Given the description of an element on the screen output the (x, y) to click on. 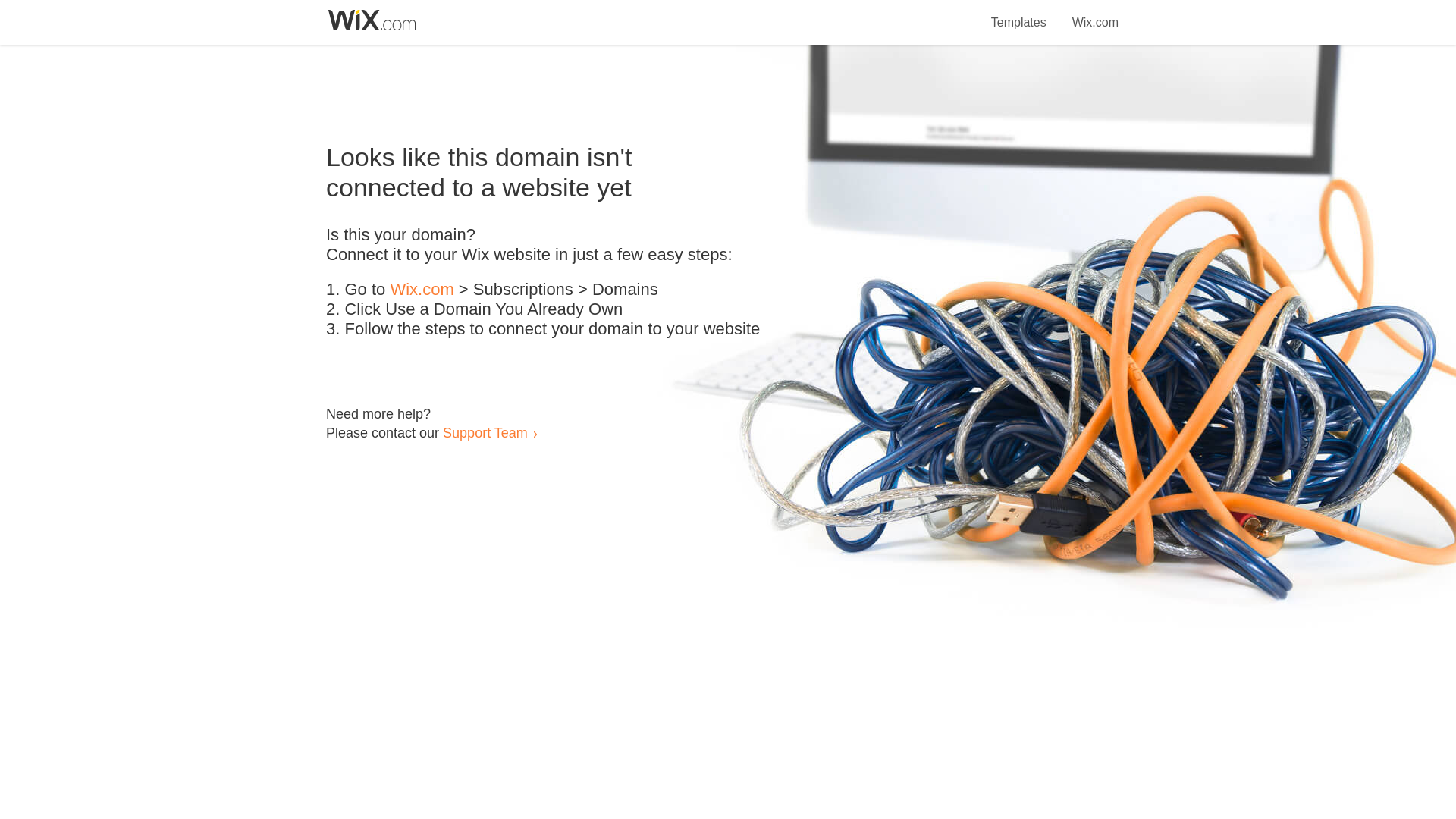
Wix.com (1095, 14)
Support Team (484, 432)
Templates (1018, 14)
Wix.com (421, 289)
